Given the description of an element on the screen output the (x, y) to click on. 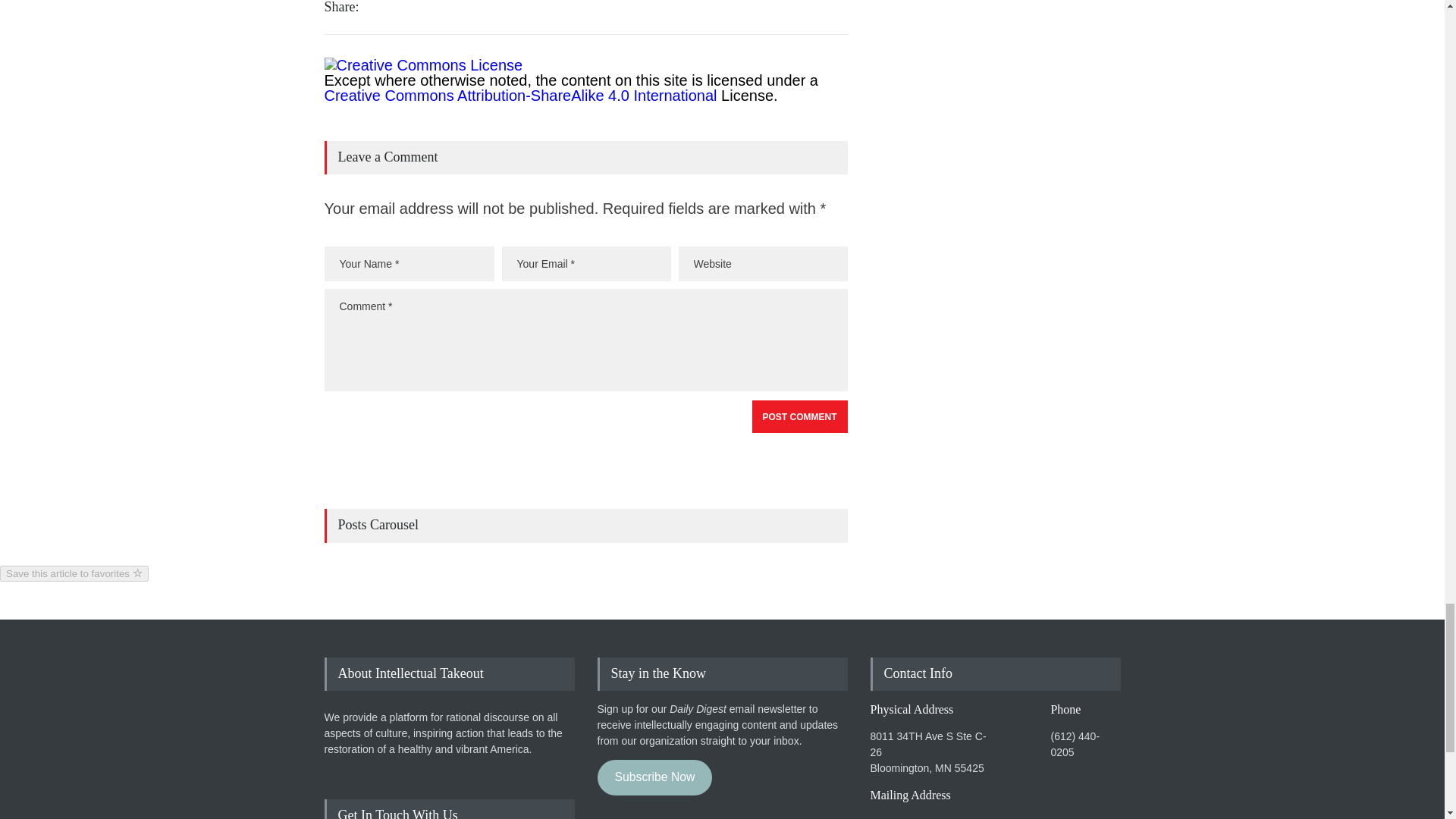
POST COMMENT (799, 416)
Website (762, 263)
